Given the description of an element on the screen output the (x, y) to click on. 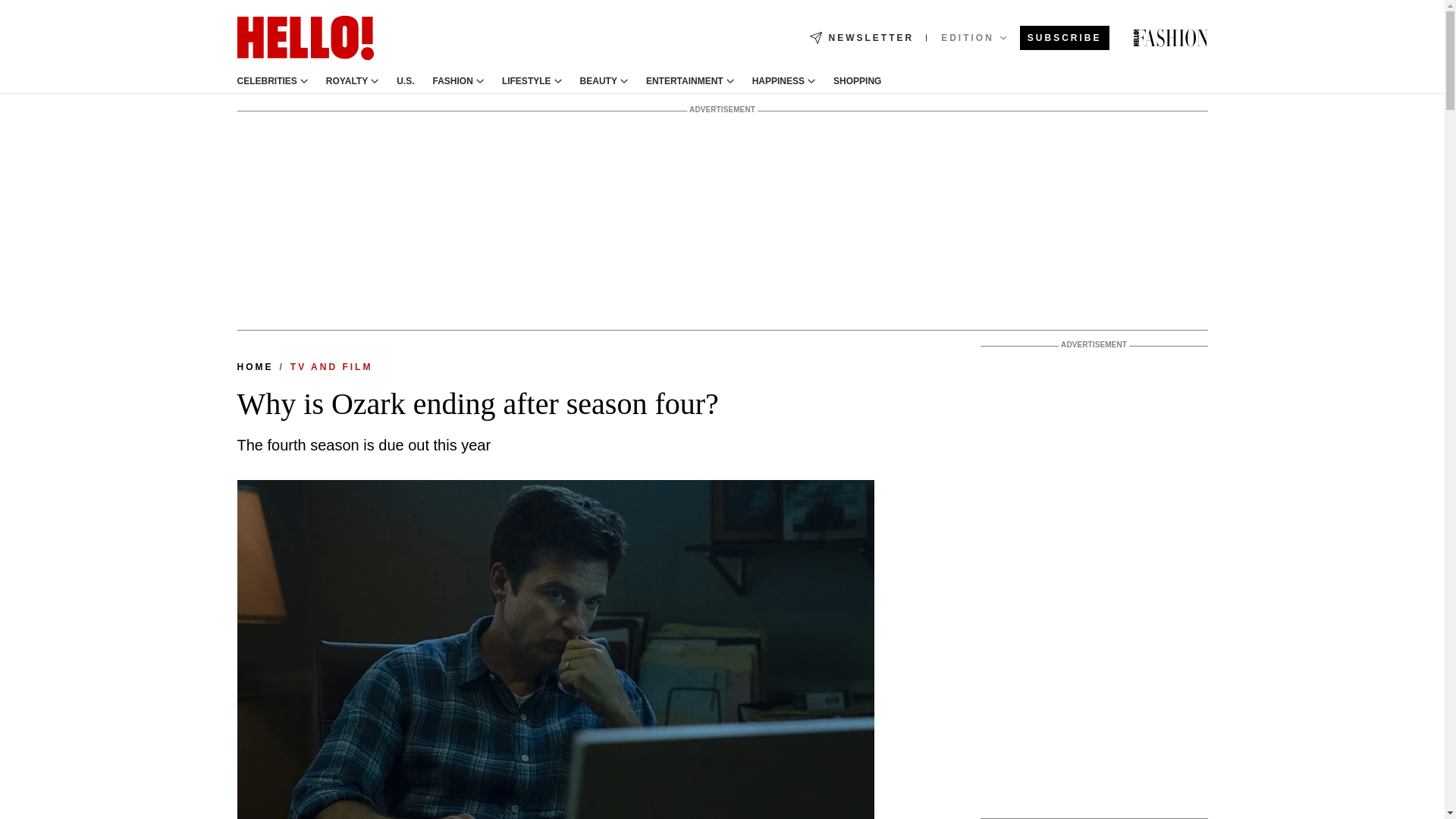
BEAUTY (598, 81)
CELEBRITIES (266, 81)
U.S. (404, 81)
NEWSLETTER (861, 38)
ROYALTY (347, 81)
FASHION (452, 81)
